Given the description of an element on the screen output the (x, y) to click on. 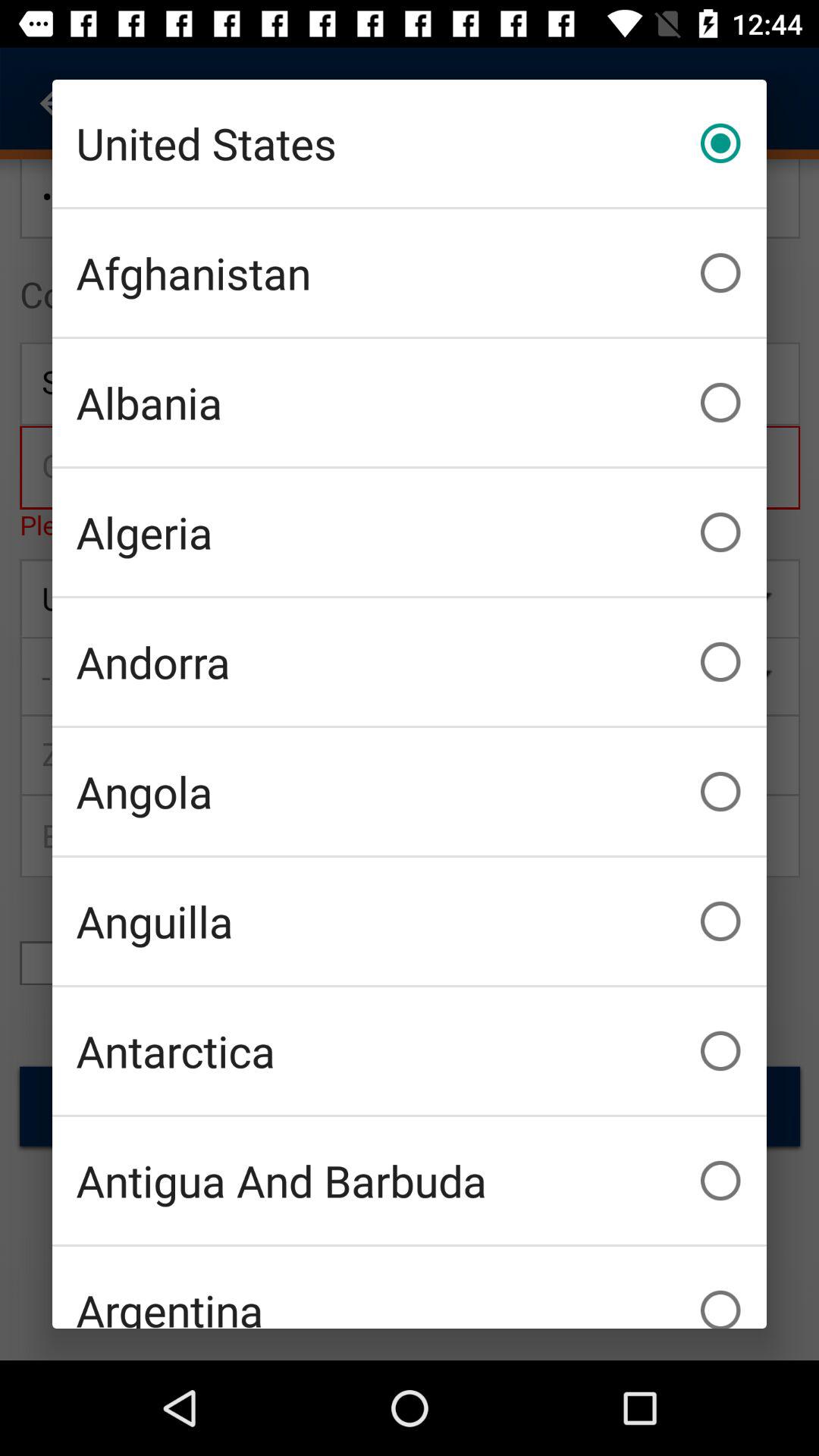
select item above the argentina (409, 1180)
